Given the description of an element on the screen output the (x, y) to click on. 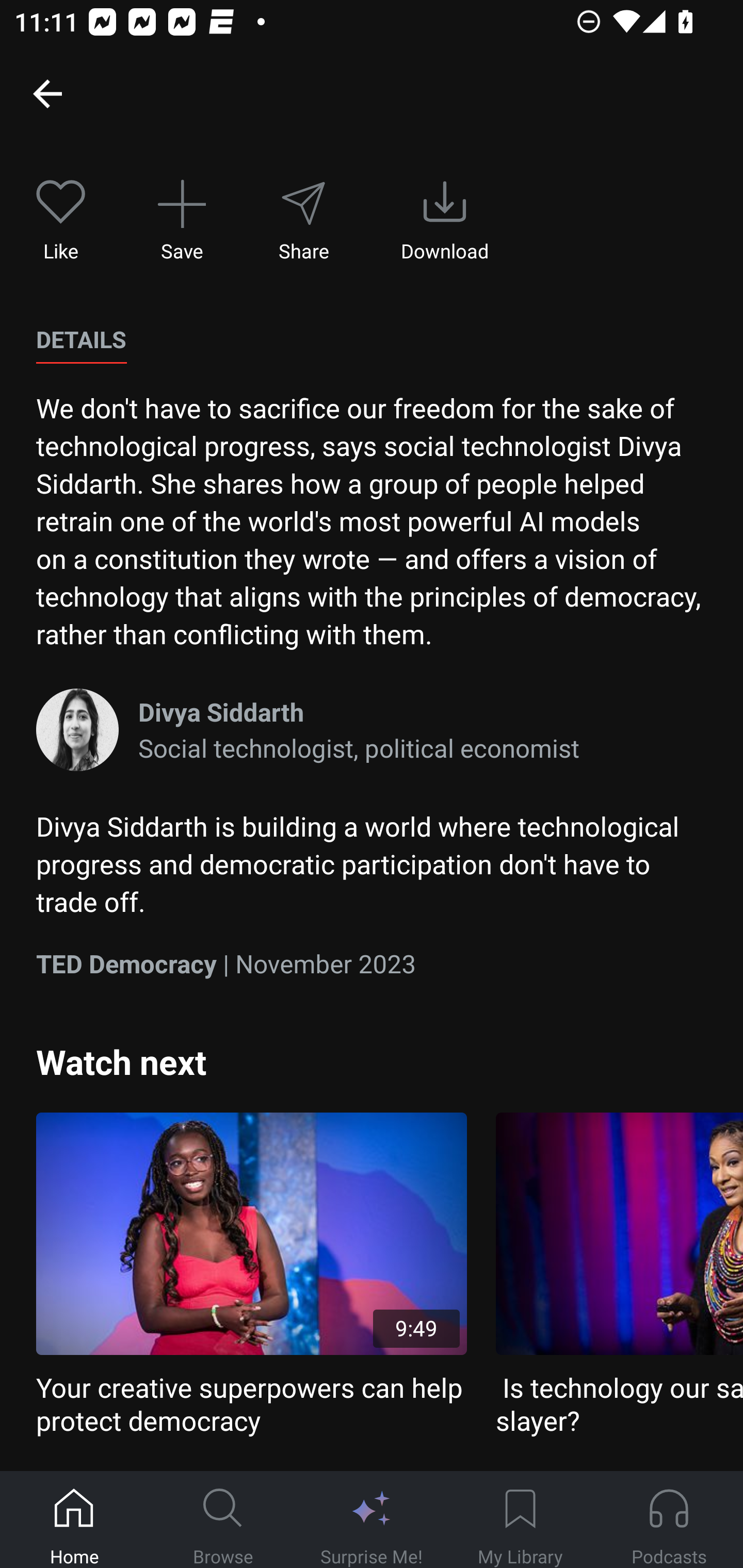
Home, back (47, 92)
Like (60, 220)
Save (181, 220)
Share (302, 220)
Download (444, 220)
DETAILS (80, 339)
 Is technology our savior — or our slayer? (619, 1275)
Home (74, 1520)
Browse (222, 1520)
Surprise Me! (371, 1520)
My Library (519, 1520)
Podcasts (668, 1520)
